Given the description of an element on the screen output the (x, y) to click on. 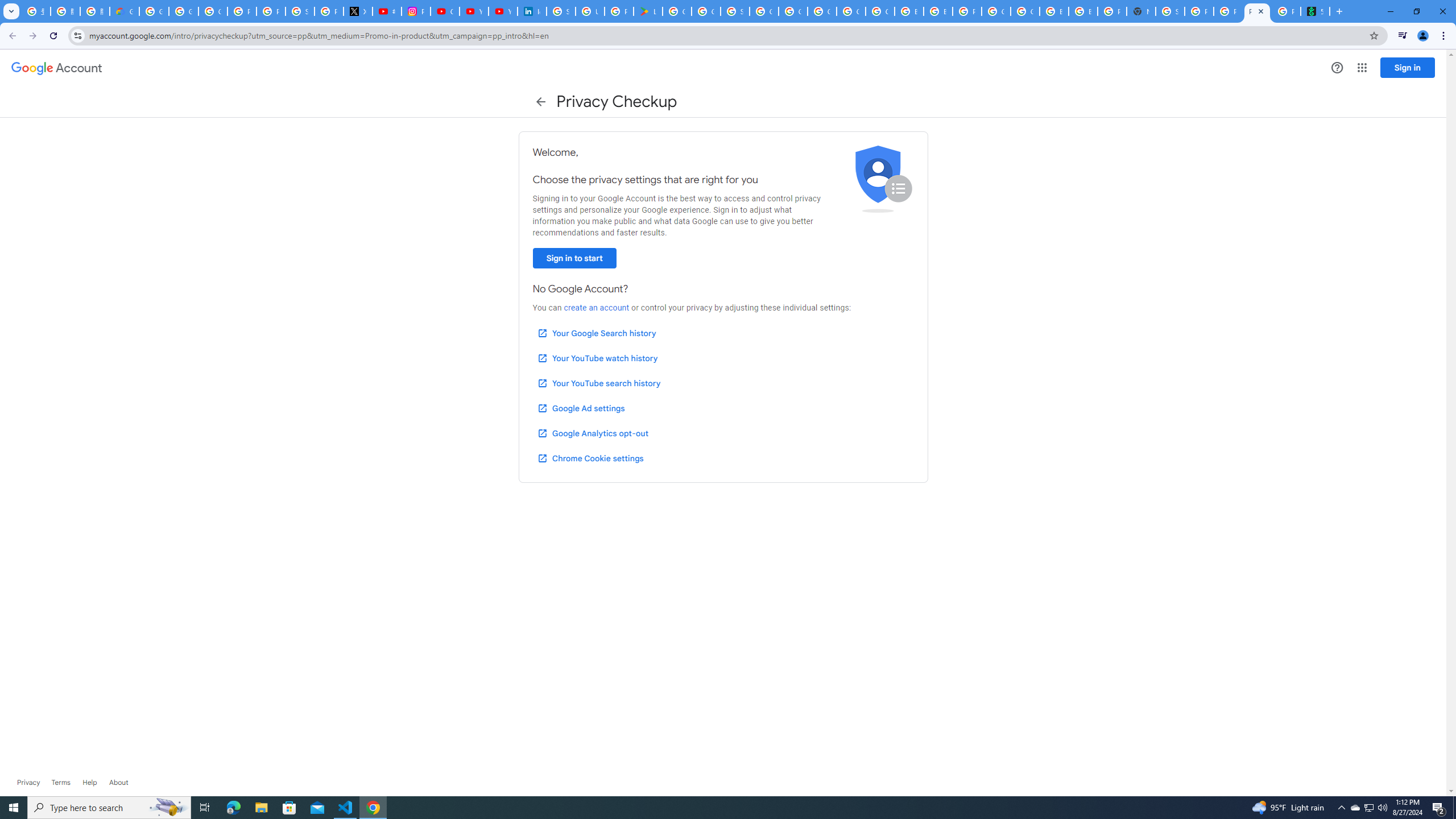
Browse Chrome as a guest - Computer - Google Chrome Help (1082, 11)
